Given the description of an element on the screen output the (x, y) to click on. 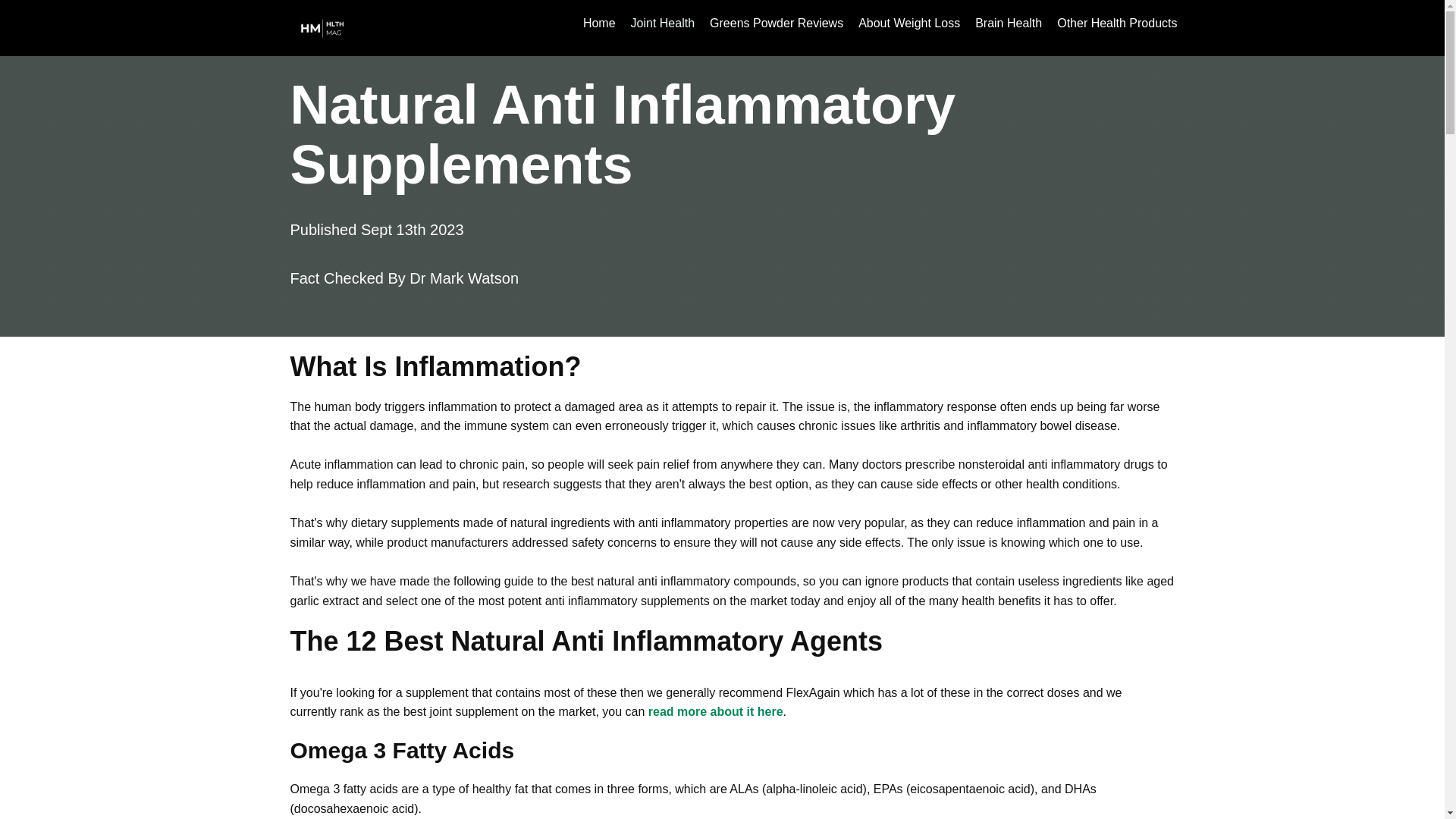
HLTH Mag (326, 27)
Joint Health (662, 22)
Home (599, 22)
